Given the description of an element on the screen output the (x, y) to click on. 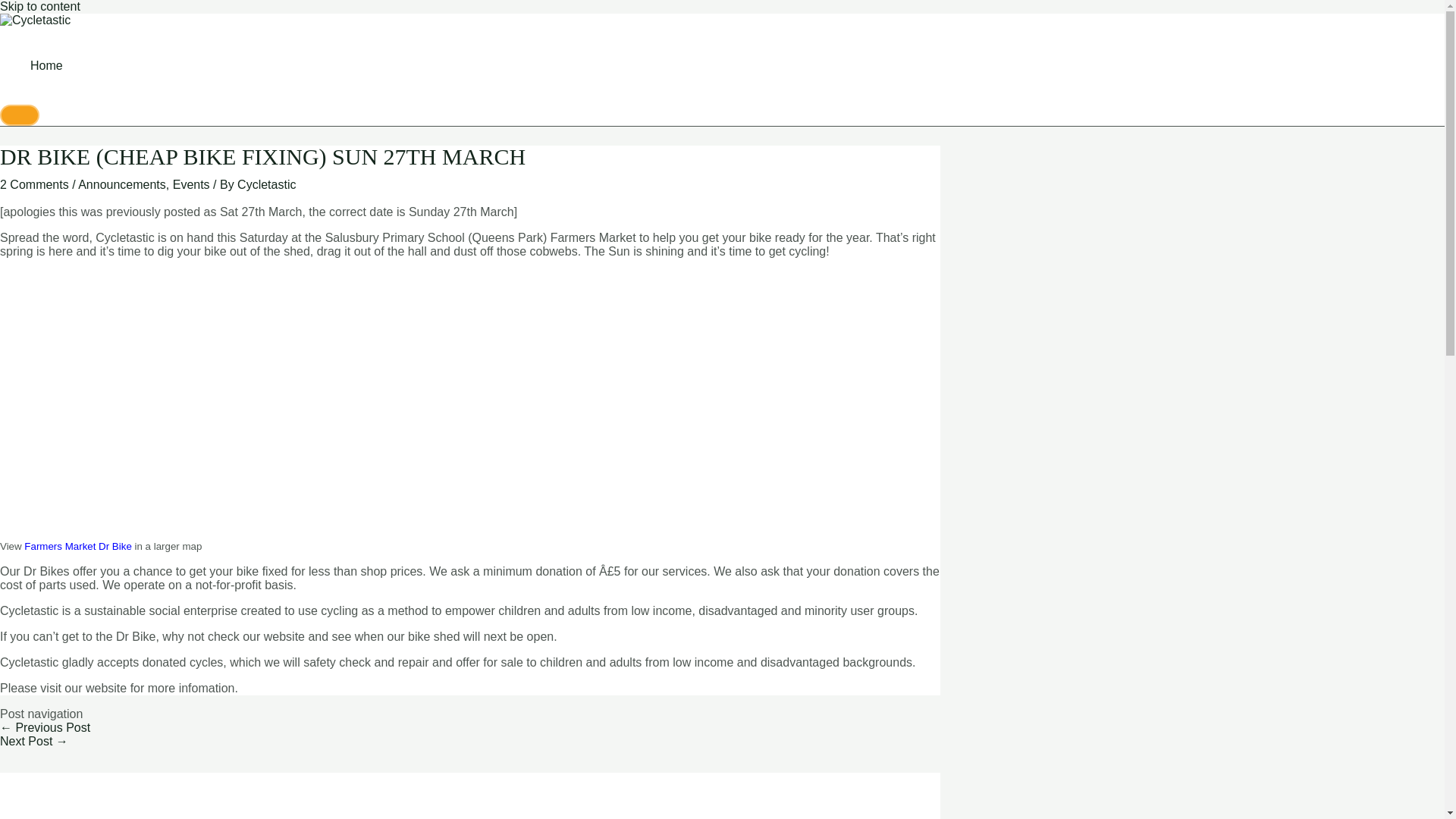
Farmers Market Dr Bike (77, 546)
2 Comments (34, 184)
View all posts by Cycletastic (266, 184)
Skip to content (40, 6)
Announcements (121, 184)
Skip to content (40, 6)
Cycletastic (266, 184)
Events (191, 184)
